Given the description of an element on the screen output the (x, y) to click on. 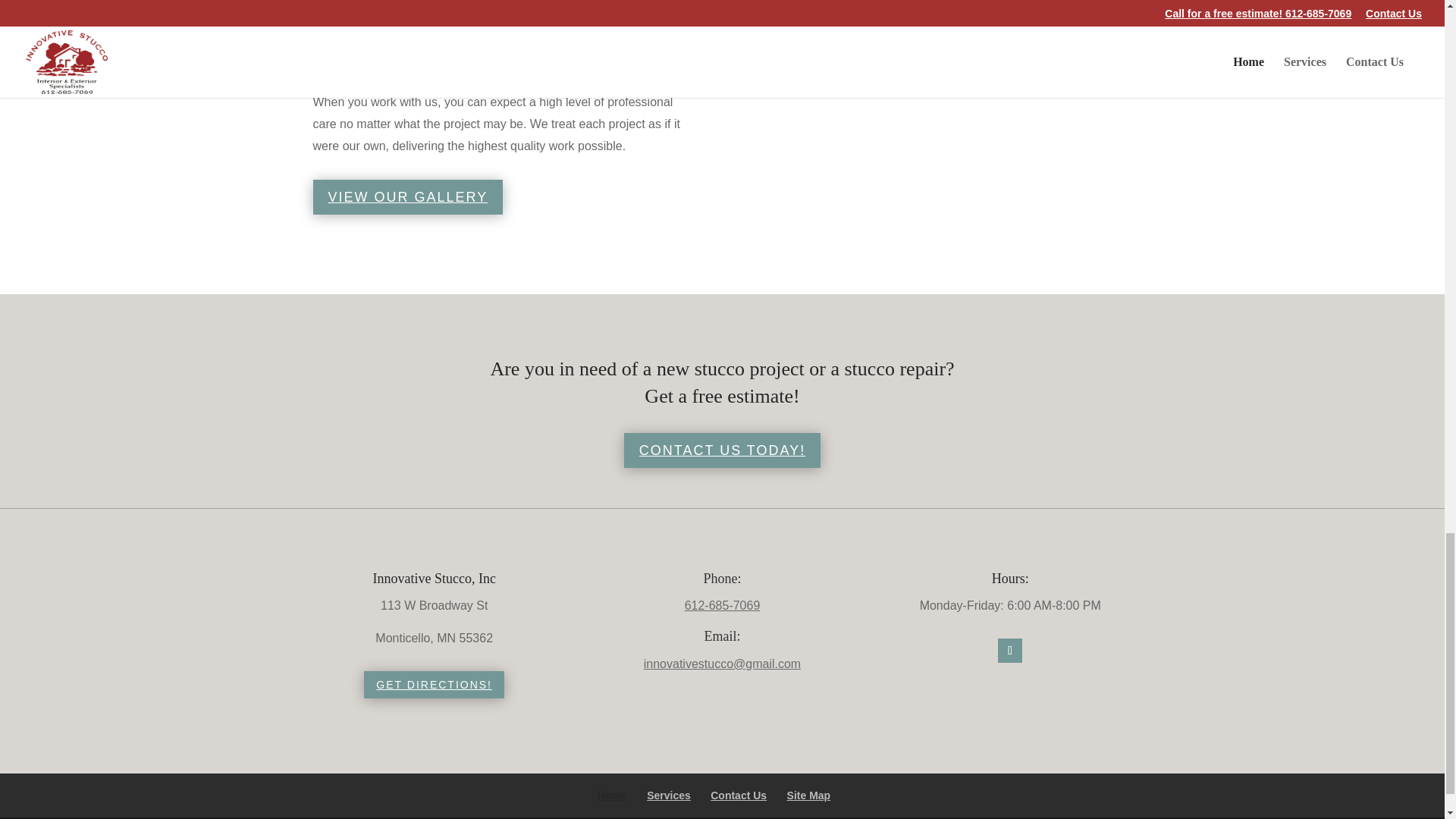
612-685-7069 (722, 604)
Follow on Facebook (1009, 650)
Contact Us (738, 795)
VIEW OUR GALLERY (407, 196)
CONTACT US TODAY! (722, 449)
GET DIRECTIONS! (433, 684)
Services (668, 795)
Home (611, 795)
Site Map (809, 795)
